Given the description of an element on the screen output the (x, y) to click on. 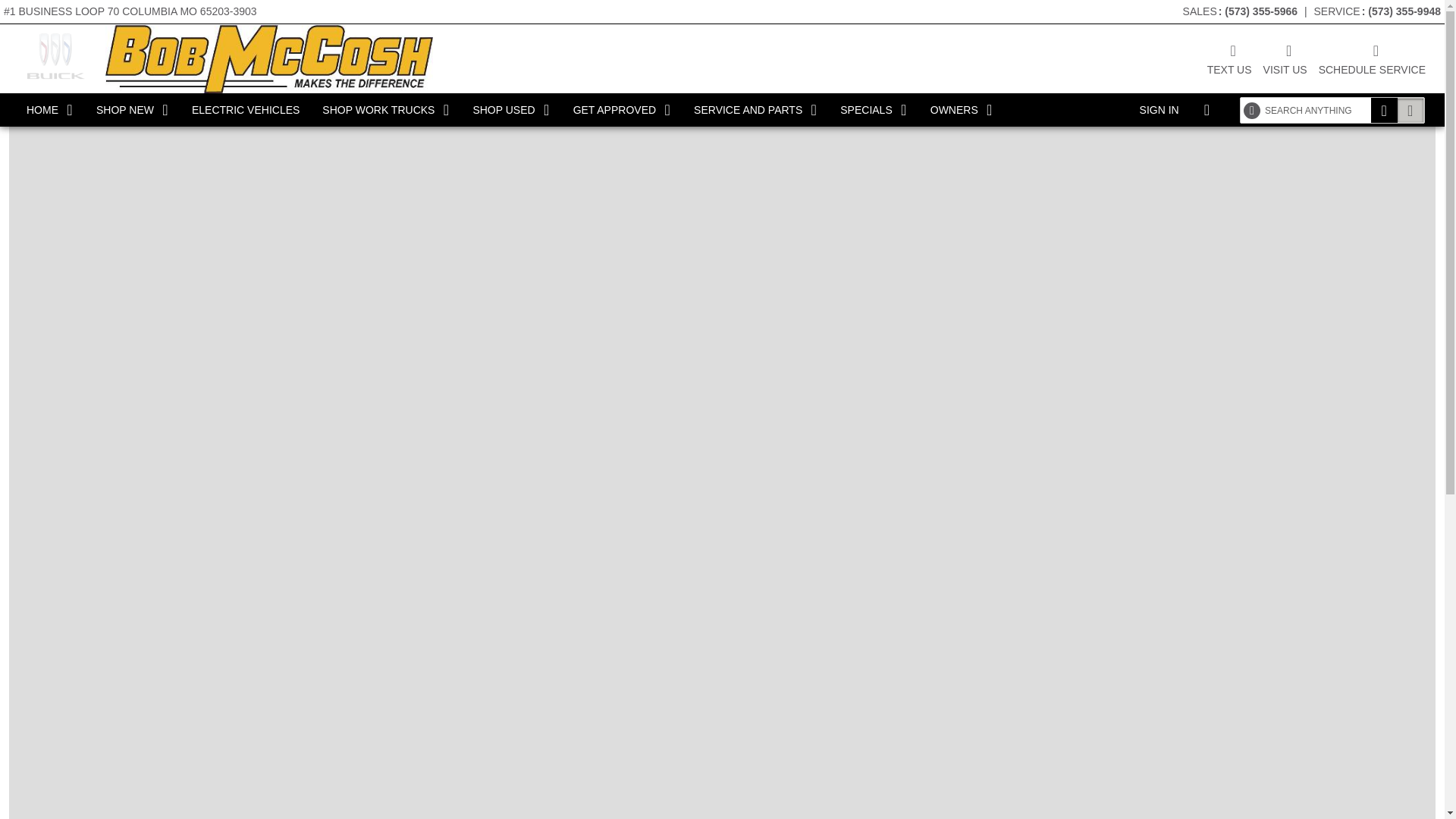
Contact Bob McCosh Chevrolet Buick GMC (1229, 58)
Search Inventory (1410, 109)
Skip to Main Content (49, 7)
Visit Bob McCosh Chevrolet Buick GMC (1285, 58)
Buick (55, 56)
TEXT US (1229, 58)
VISIT US (1285, 58)
Bob McCosh Chevrolet Buick GMC (268, 58)
Search Anything (1384, 109)
SCHEDULE SERVICE (1372, 58)
